Given the description of an element on the screen output the (x, y) to click on. 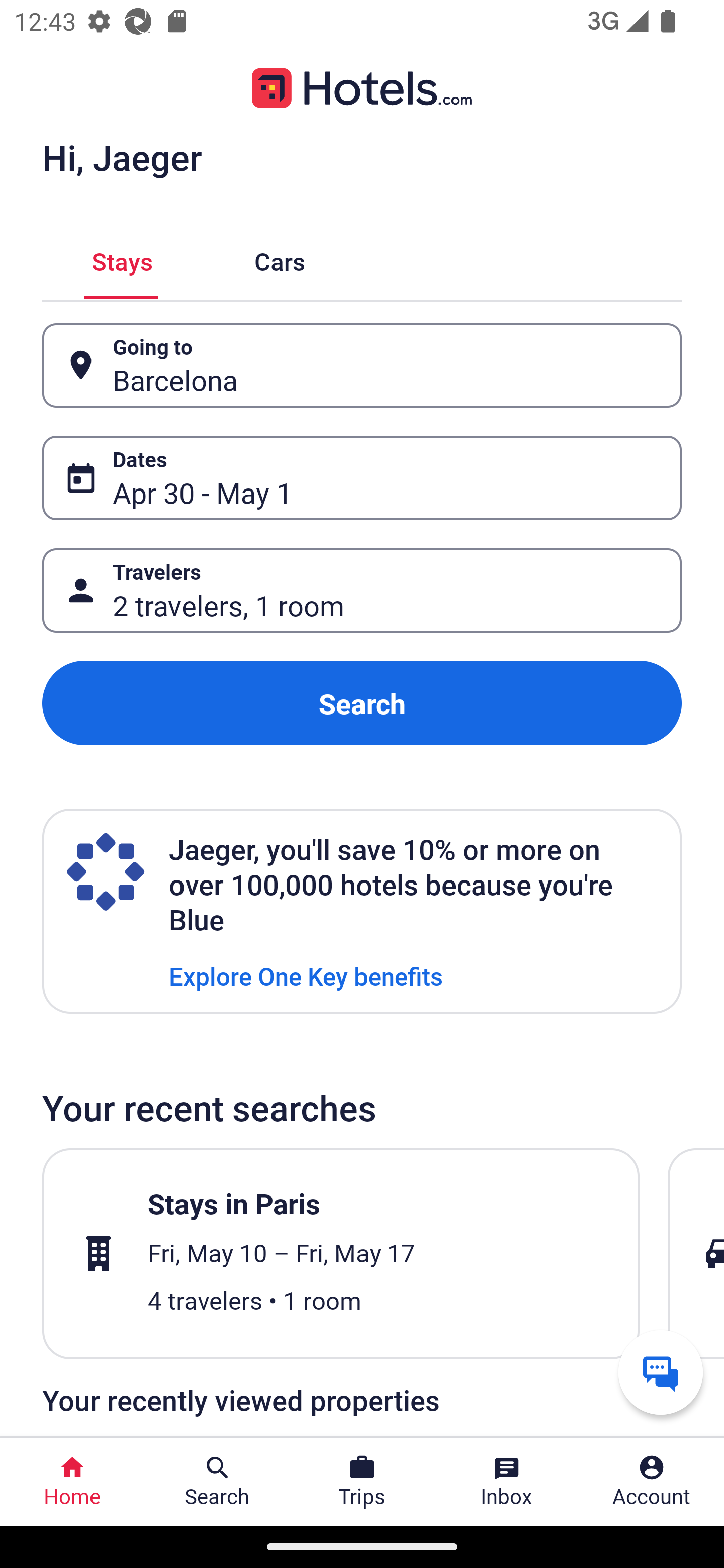
Hi, Jaeger (121, 156)
Cars (279, 259)
Going to Button Barcelona (361, 365)
Dates Button Apr 30 - May 1 (361, 477)
Travelers Button 2 travelers, 1 room (361, 590)
Search (361, 702)
Get help from a virtual agent (660, 1371)
Search Search Button (216, 1481)
Trips Trips Button (361, 1481)
Inbox Inbox Button (506, 1481)
Account Profile. Button (651, 1481)
